Given the description of an element on the screen output the (x, y) to click on. 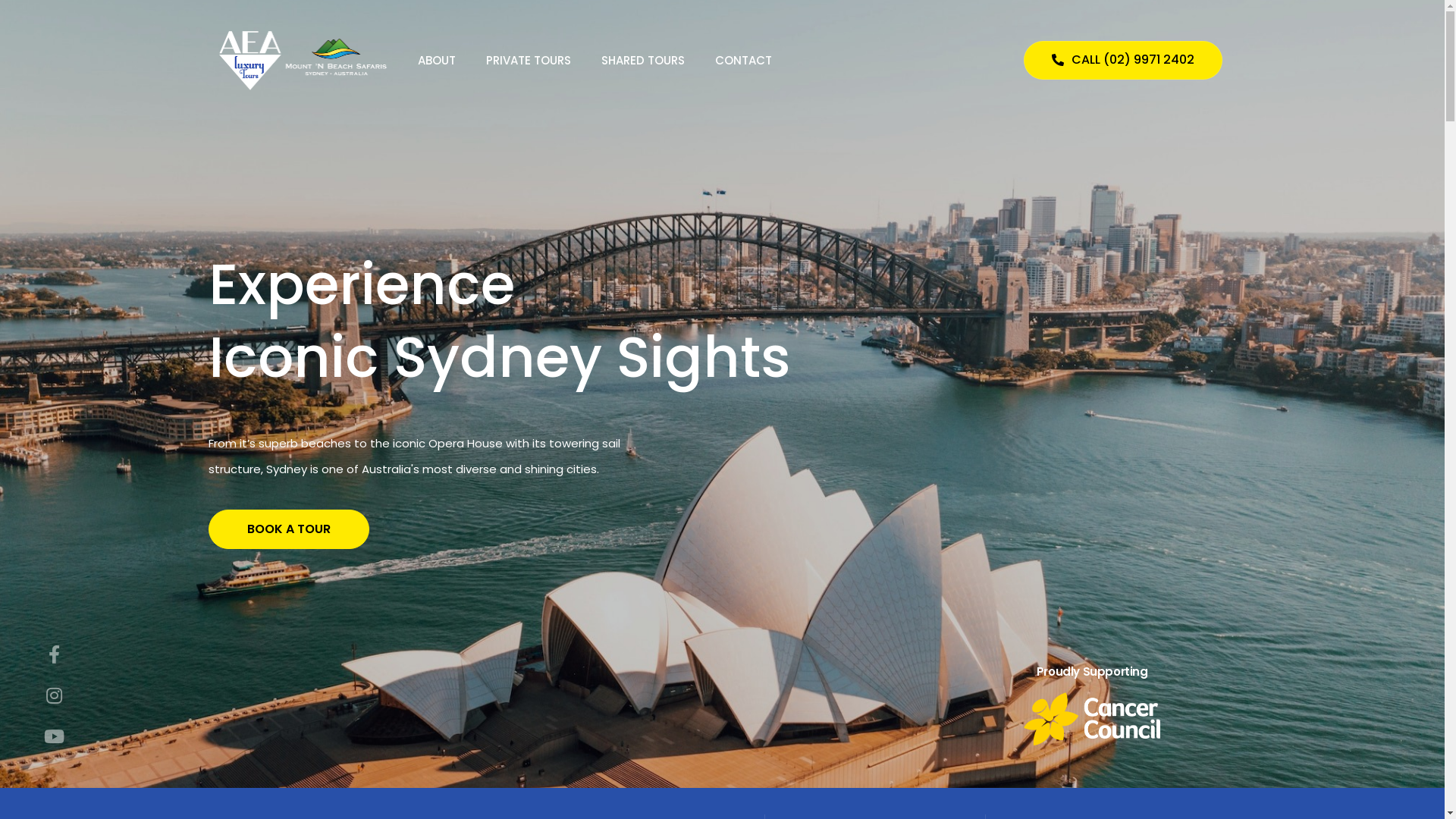
SHARED TOURS Element type: text (642, 60)
BOOK A TOUR Element type: text (288, 535)
CONTACT Element type: text (743, 60)
CALL (02) 9971 2402 Element type: text (1122, 59)
PRIVATE TOURS Element type: text (528, 60)
ABOUT Element type: text (436, 60)
BOOK A TOUR Element type: text (288, 577)
